Given the description of an element on the screen output the (x, y) to click on. 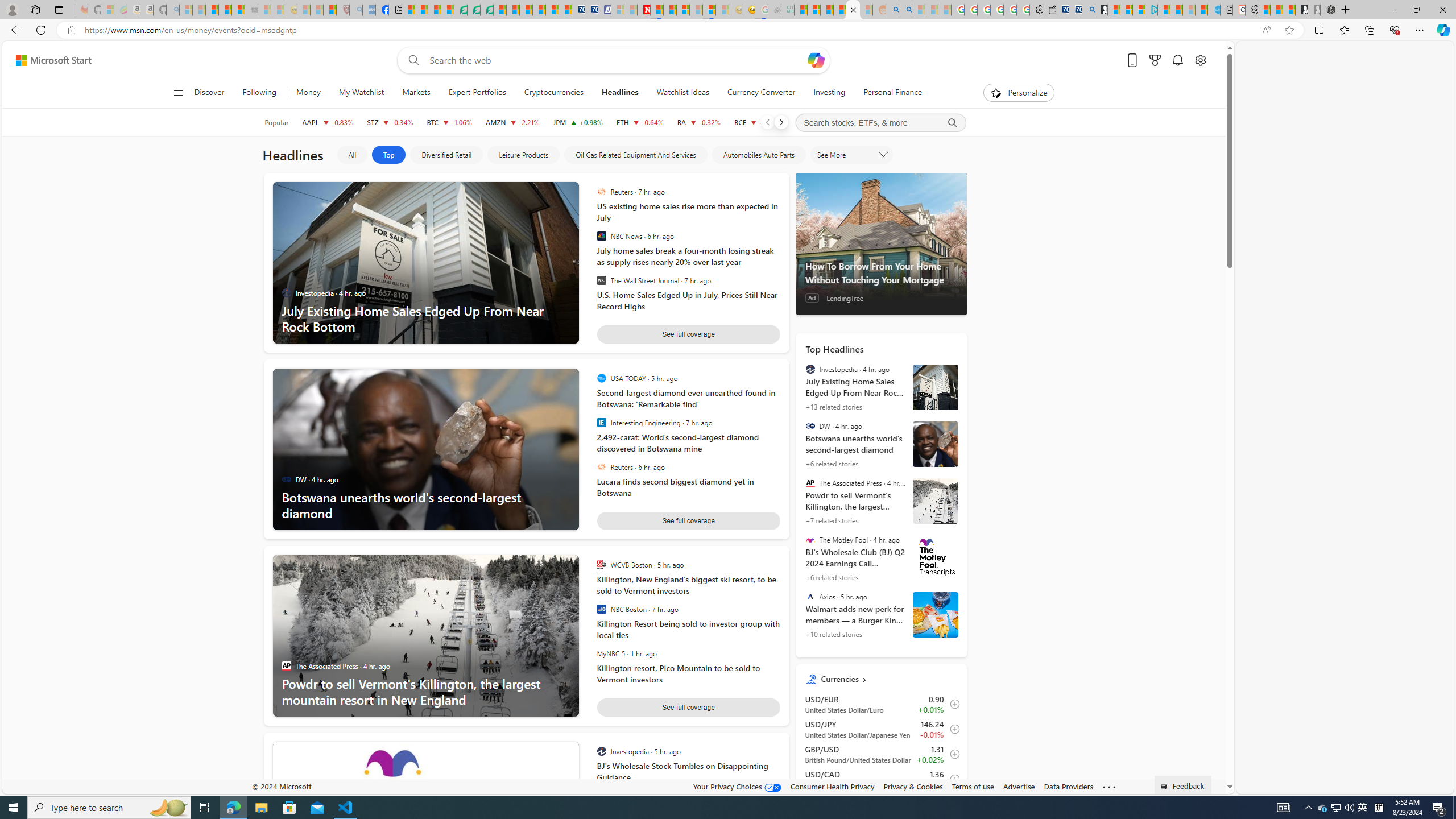
New tab (1226, 9)
Local - MSN (329, 9)
Reuters 7 hr. ago (685, 191)
Bing Real Estate - Home sales and rental listings (1088, 9)
BTC Bitcoin decrease 60,599.60 -639.75 -1.06% (449, 122)
USA TODAY 5 hr. ago (685, 378)
Interesting Engineering (600, 422)
Open settings (1199, 60)
